Given the description of an element on the screen output the (x, y) to click on. 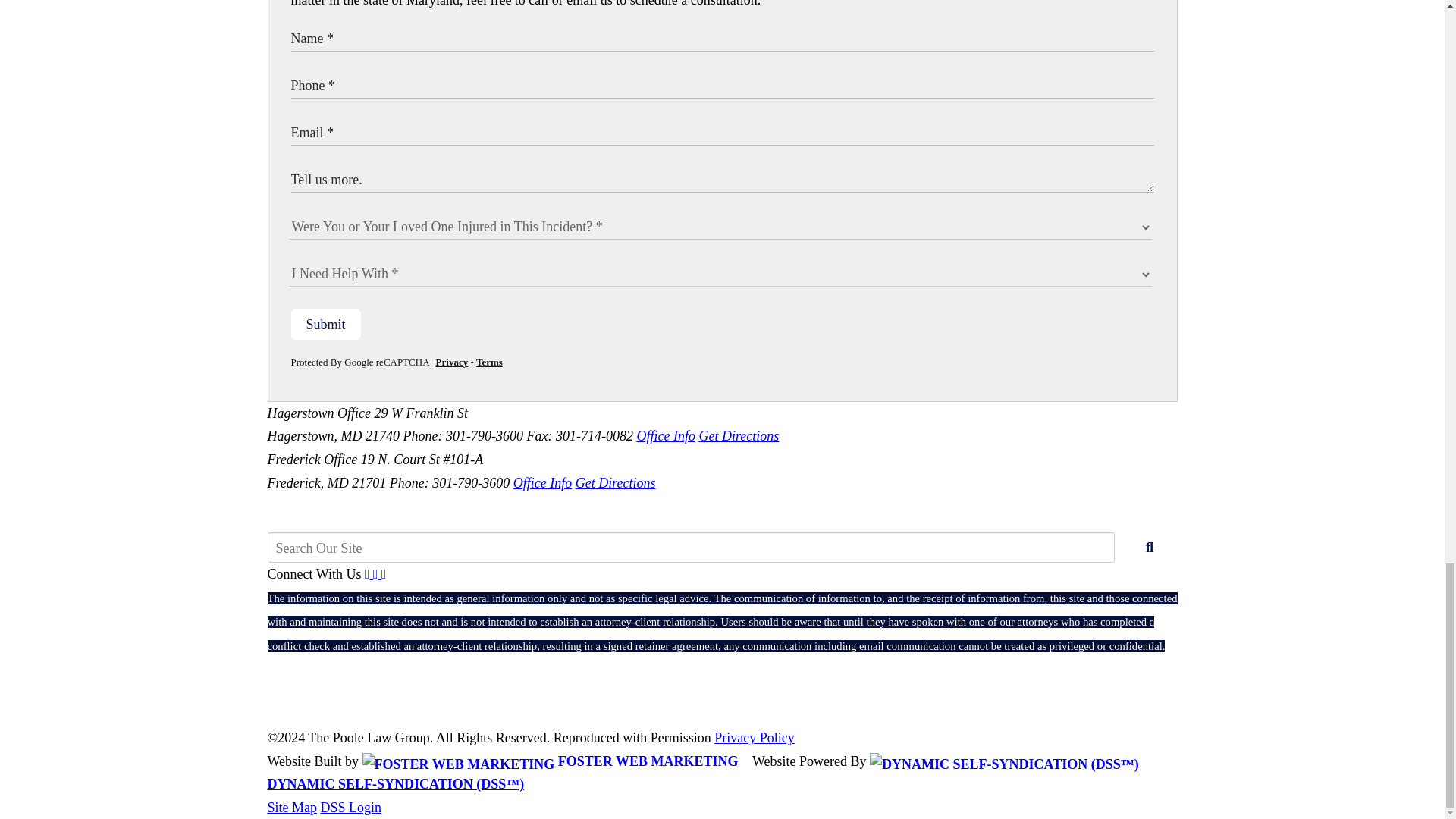
Search (1149, 547)
